Given the description of an element on the screen output the (x, y) to click on. 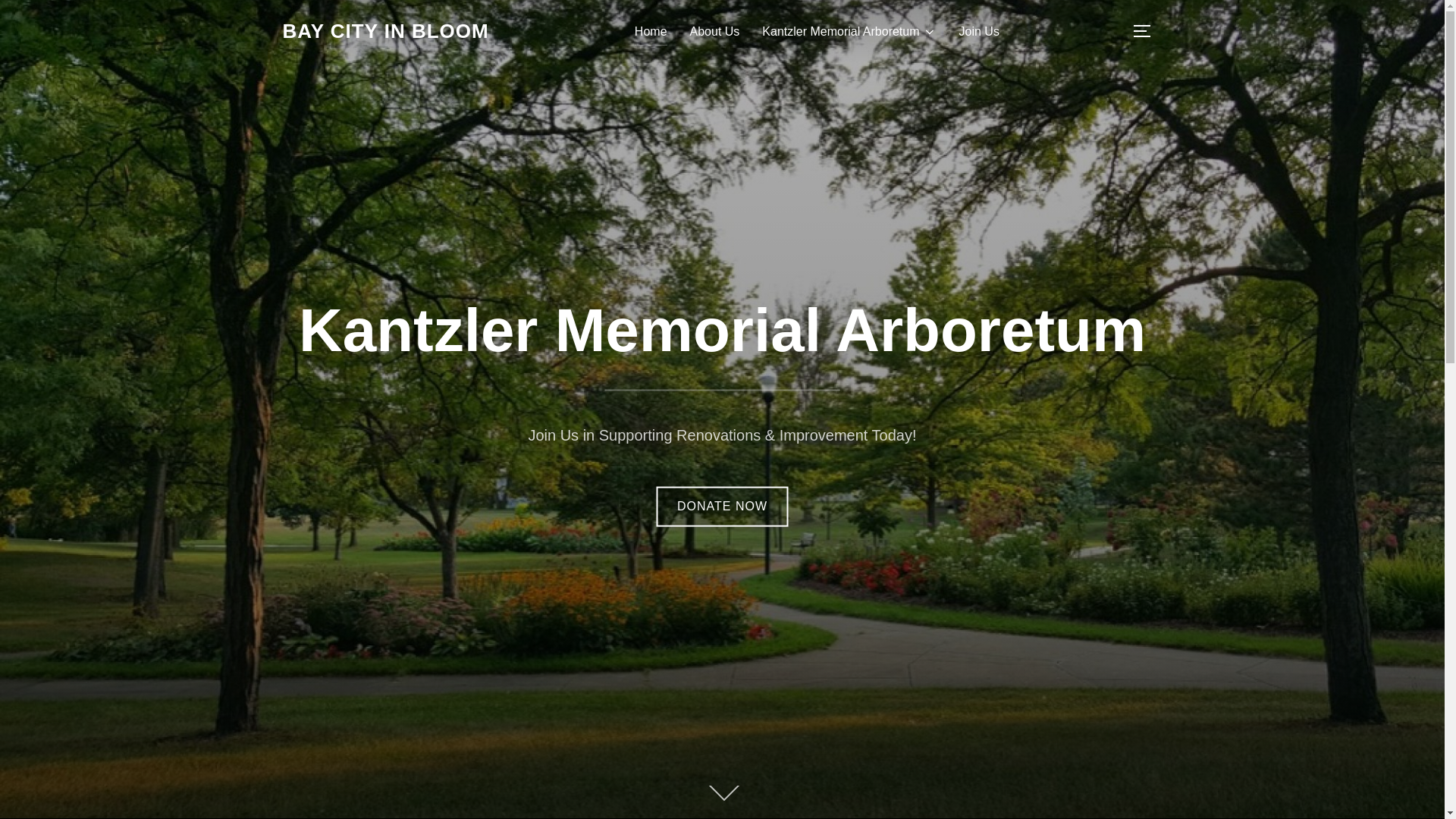
Home (650, 30)
Join Us (978, 30)
DONATE NOW (721, 506)
Planting Pride in Our Community (384, 31)
Kantzler Memorial Arboretum (721, 329)
Kantzler Memorial Arboretum (848, 30)
About Us (714, 30)
Scroll down to content (721, 794)
BAY CITY IN BLOOM (384, 31)
